Given the description of an element on the screen output the (x, y) to click on. 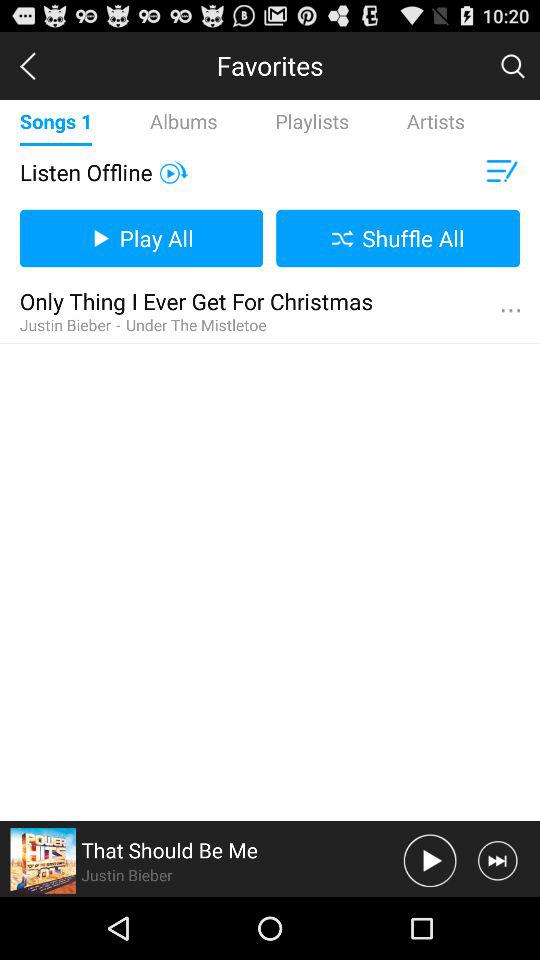
play the sound offline (173, 171)
